Given the description of an element on the screen output the (x, y) to click on. 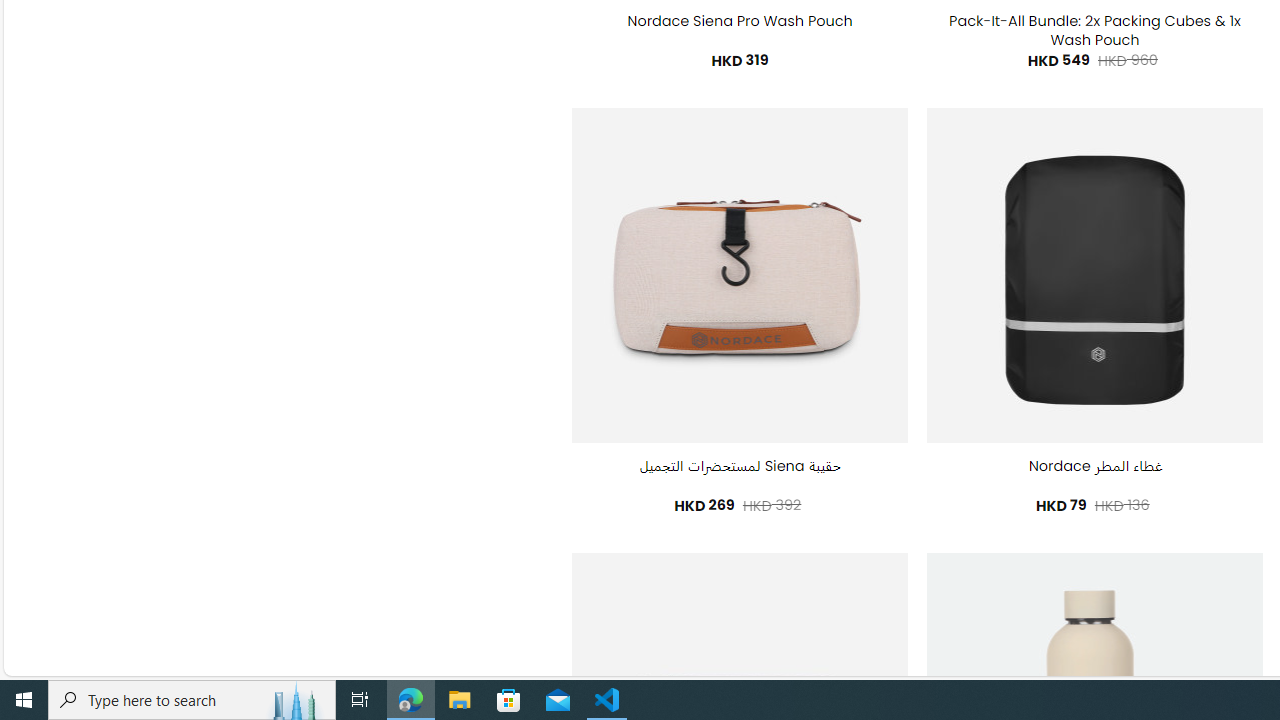
Nordace Siena Pro Wash Pouch (739, 21)
Pack-It-All Bundle: 2x Packing Cubes & 1x Wash Pouch (1094, 29)
